Given the description of an element on the screen output the (x, y) to click on. 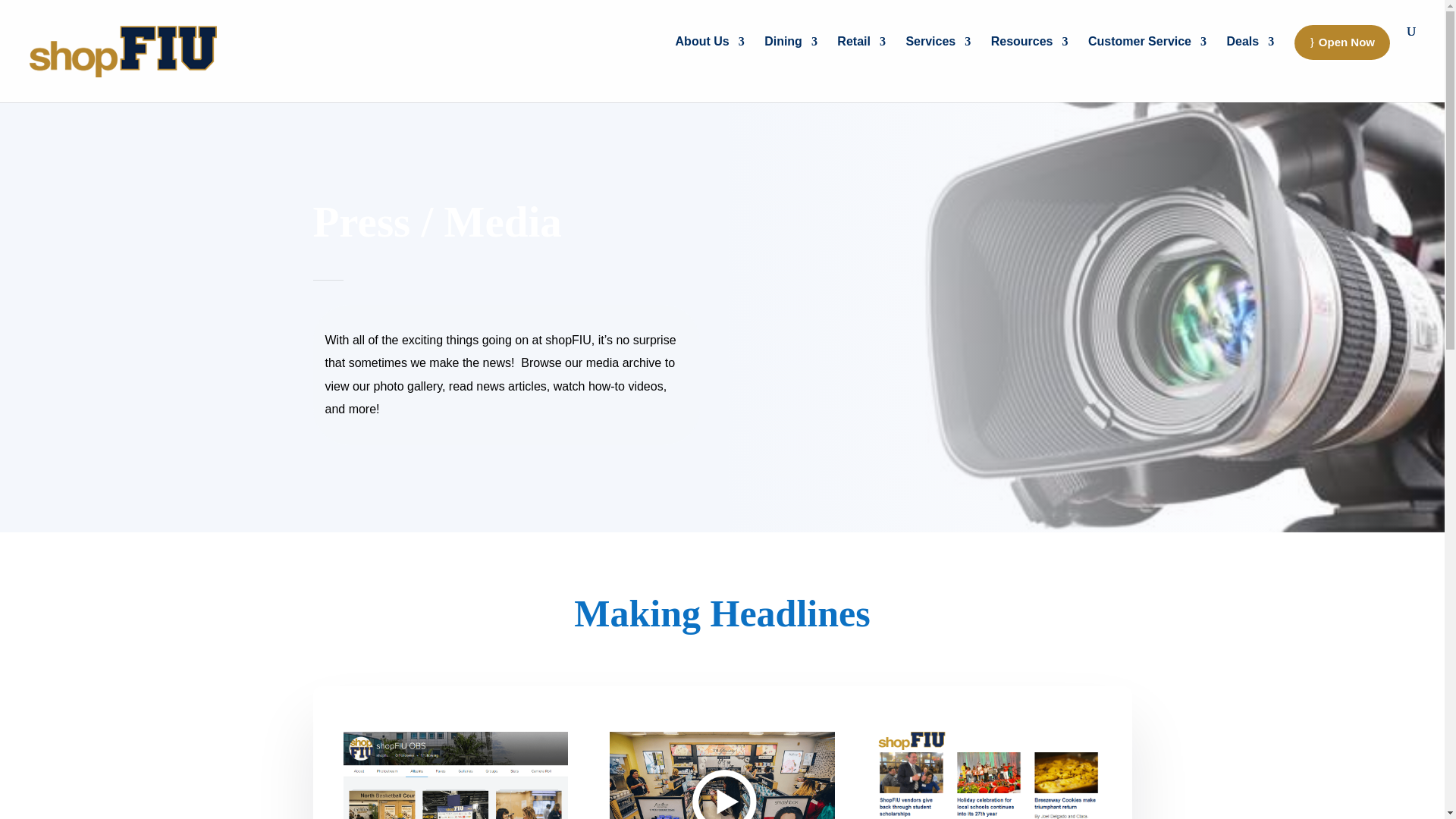
Dining (790, 57)
Mission Vision (709, 57)
Retail (861, 57)
About Us (709, 57)
Services (938, 57)
